Given the description of an element on the screen output the (x, y) to click on. 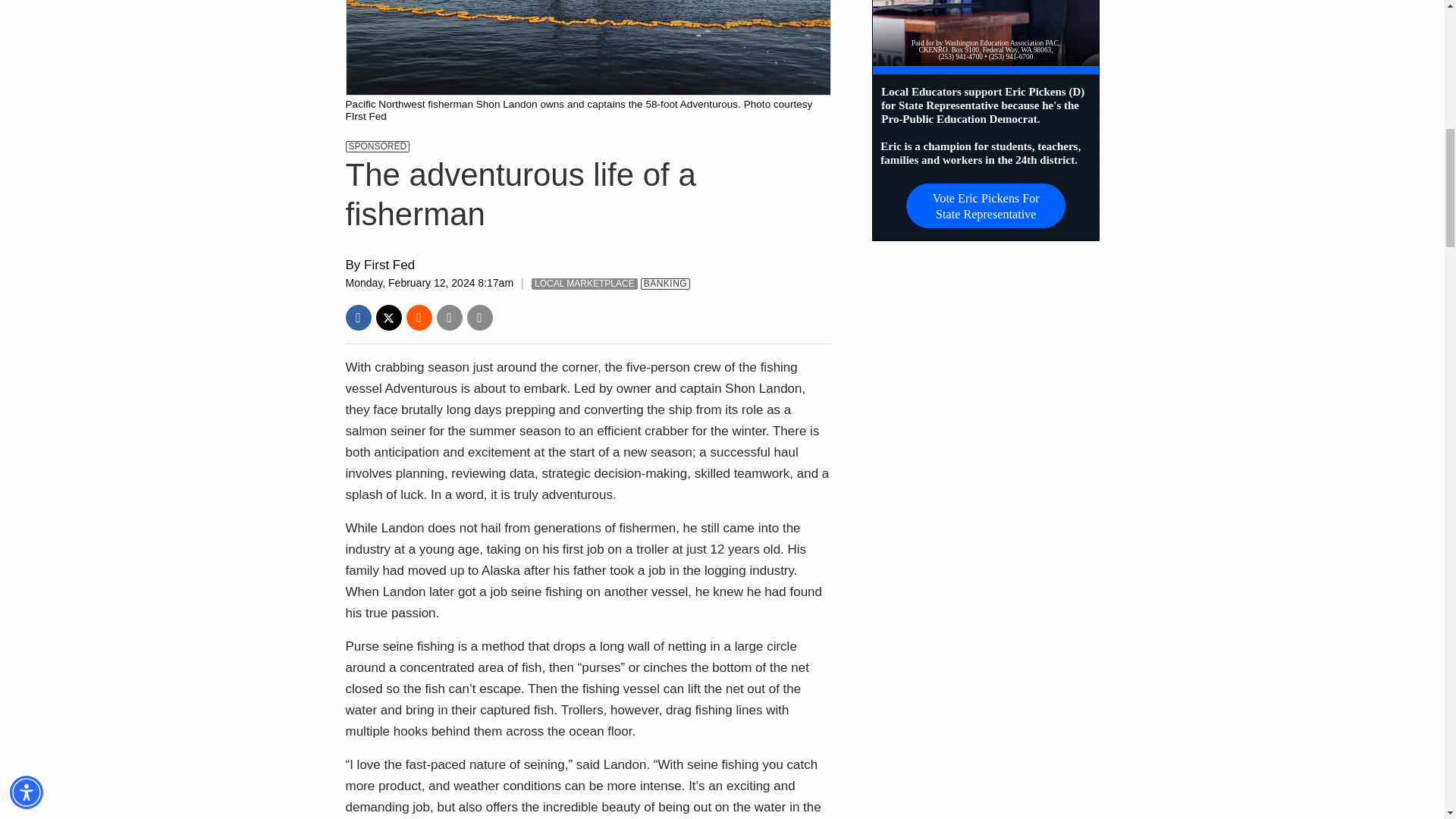
3rd party ad content (985, 120)
Post to Twitter (388, 317)
Post to Facebook (358, 317)
Print story (480, 317)
Post to Reddit (419, 317)
Email story (449, 317)
